Given the description of an element on the screen output the (x, y) to click on. 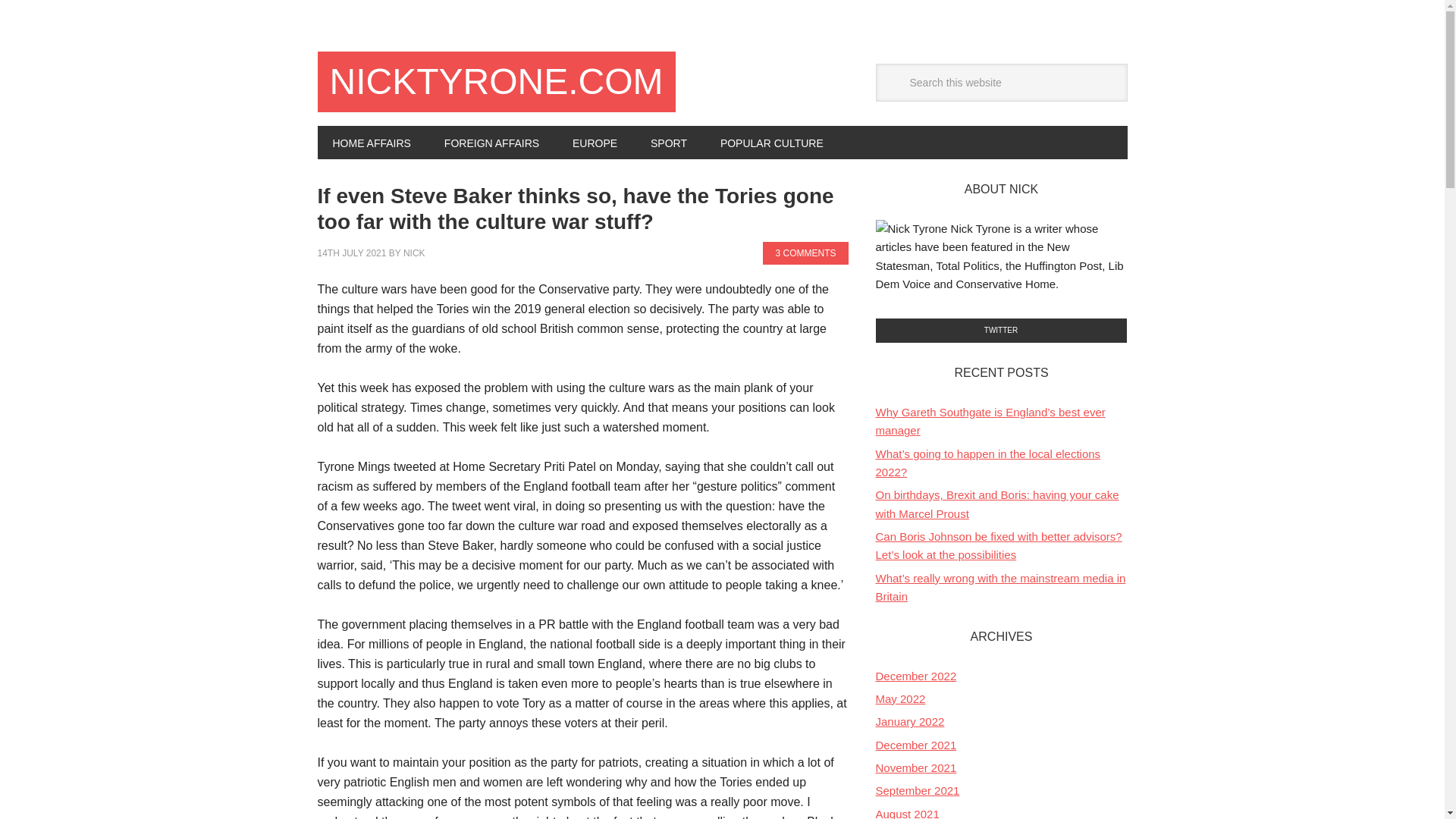
HOME AFFAIRS (371, 142)
NICK (414, 253)
December 2021 (915, 744)
August 2021 (907, 813)
EUROPE (594, 142)
TWITTER (1000, 330)
SPORT (667, 142)
NICKTYRONE.COM (496, 81)
